Given the description of an element on the screen output the (x, y) to click on. 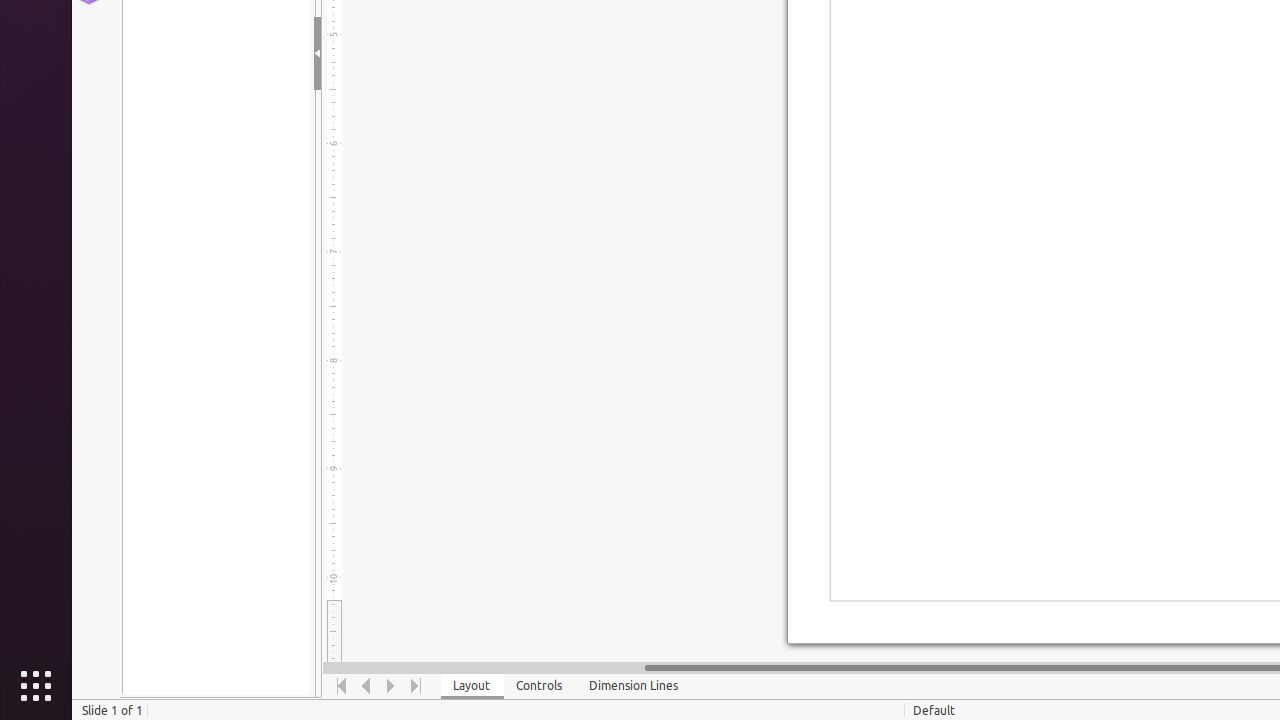
Move To Home Element type: push-button (341, 686)
Show Applications Element type: toggle-button (36, 686)
Dimension Lines Element type: page-tab (634, 686)
Controls Element type: page-tab (540, 686)
Move To End Element type: push-button (416, 686)
